Given the description of an element on the screen output the (x, y) to click on. 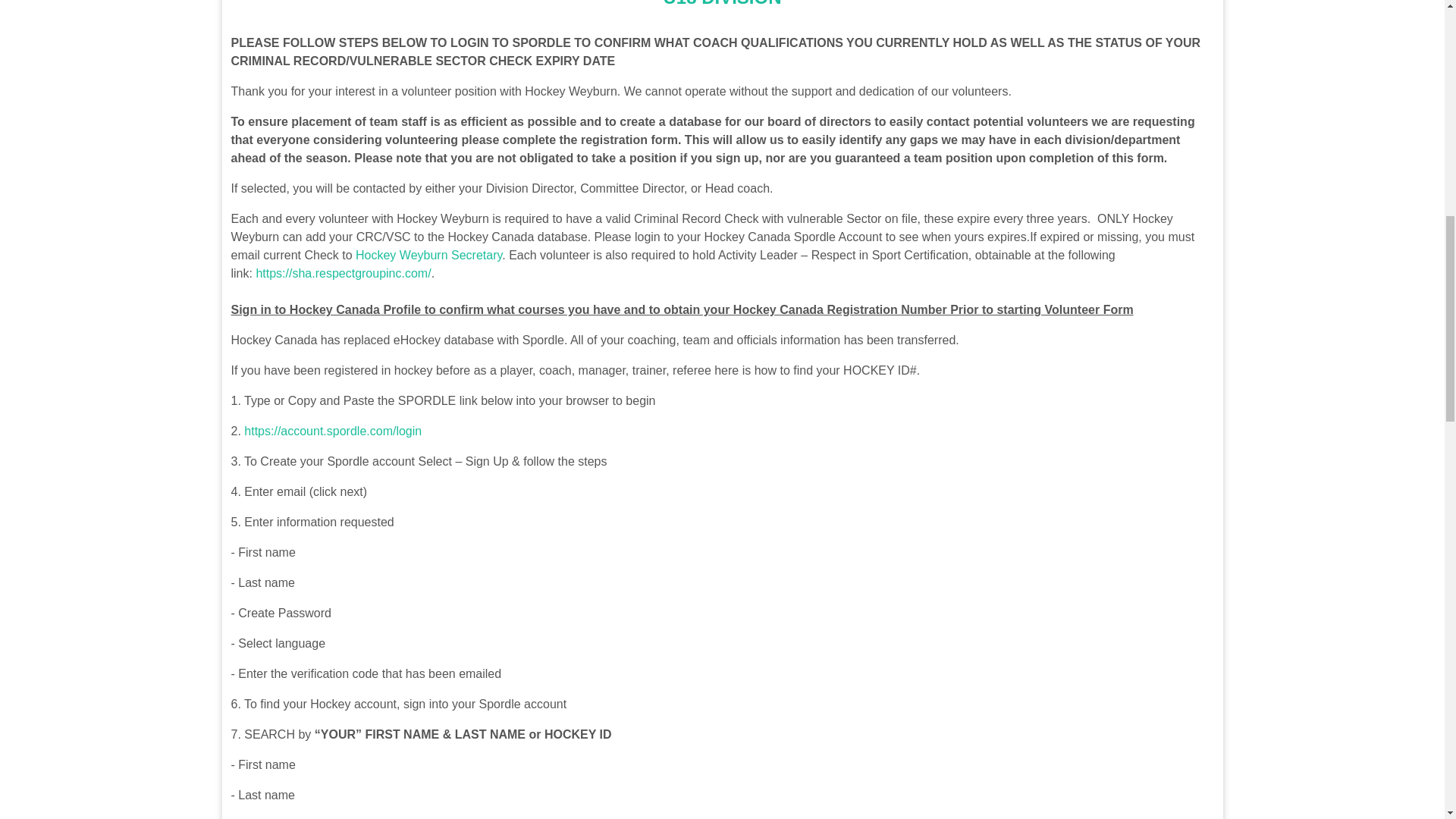
U18 DIVISION (721, 3)
Rich Text Editor, editor2 (721, 5)
Hockey Weyburn Secretary (428, 254)
